Given the description of an element on the screen output the (x, y) to click on. 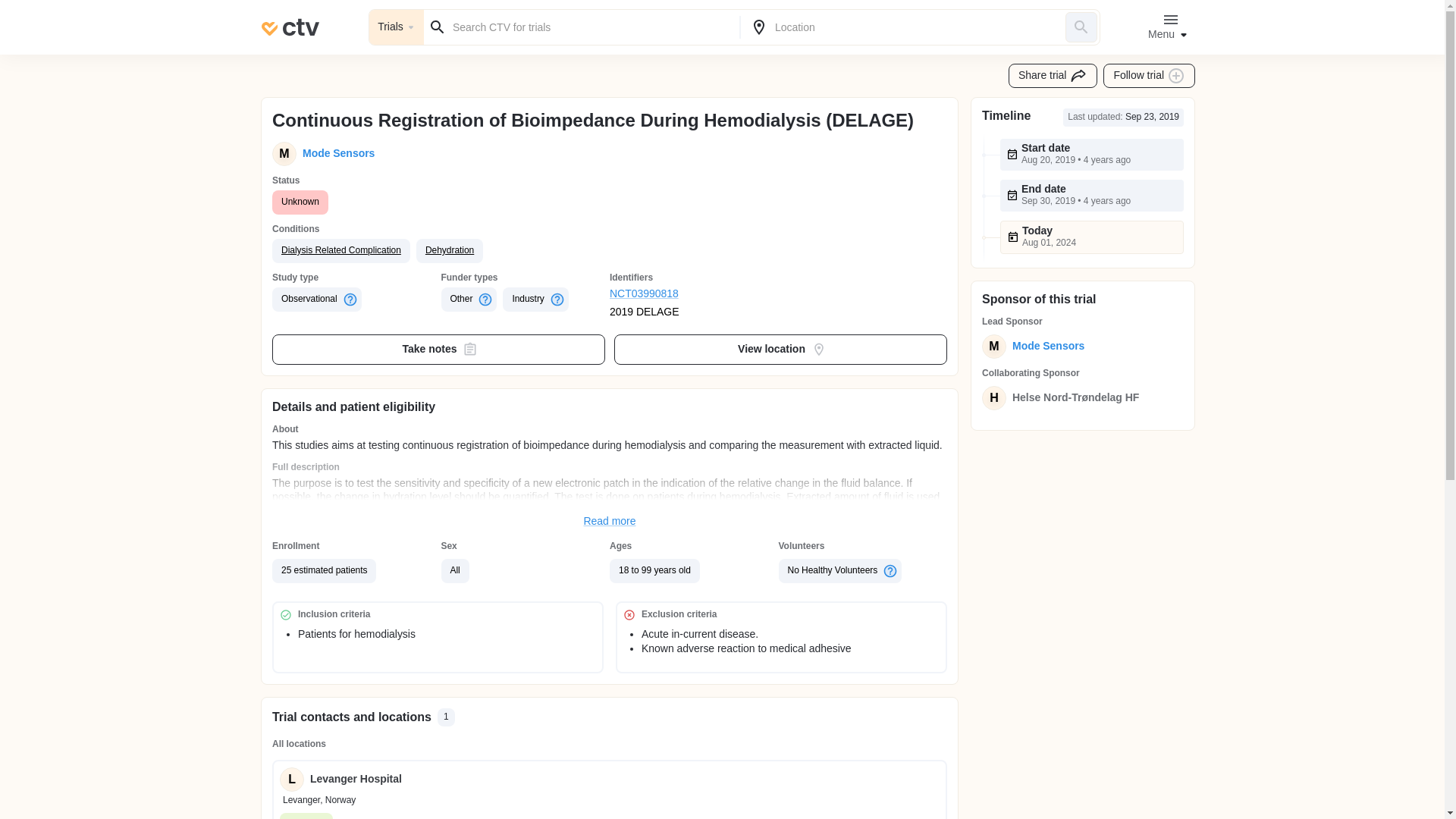
View location (780, 349)
Trials (396, 27)
Take notes (438, 349)
Follow trial (1149, 75)
Mode Sensors (1045, 345)
Read more (609, 521)
NCT03990818 (694, 294)
Mode Sensors (335, 153)
Share trial (1053, 75)
